Given the description of an element on the screen output the (x, y) to click on. 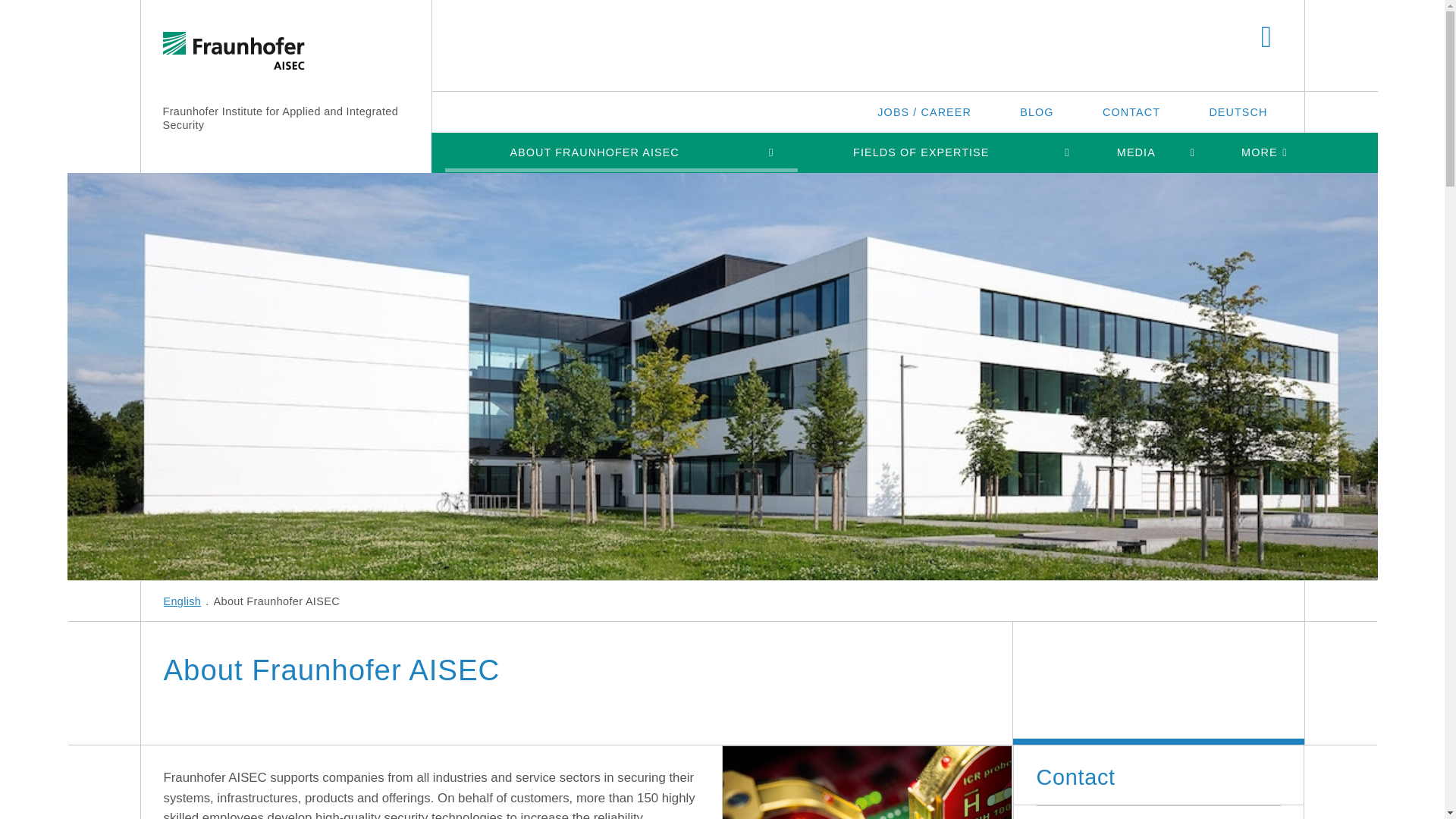
MEDIA (1137, 151)
BLOG (1036, 111)
Fraunhofer Institute for Applied and Integrated Security (279, 118)
ABOUT FRAUNHOFER AISEC (594, 151)
FIELDS OF EXPERTISE (921, 151)
SEARCH (1266, 37)
CONTACT (1131, 111)
To the annual report 2023 (866, 782)
DEUTSCH (1238, 111)
